Given the description of an element on the screen output the (x, y) to click on. 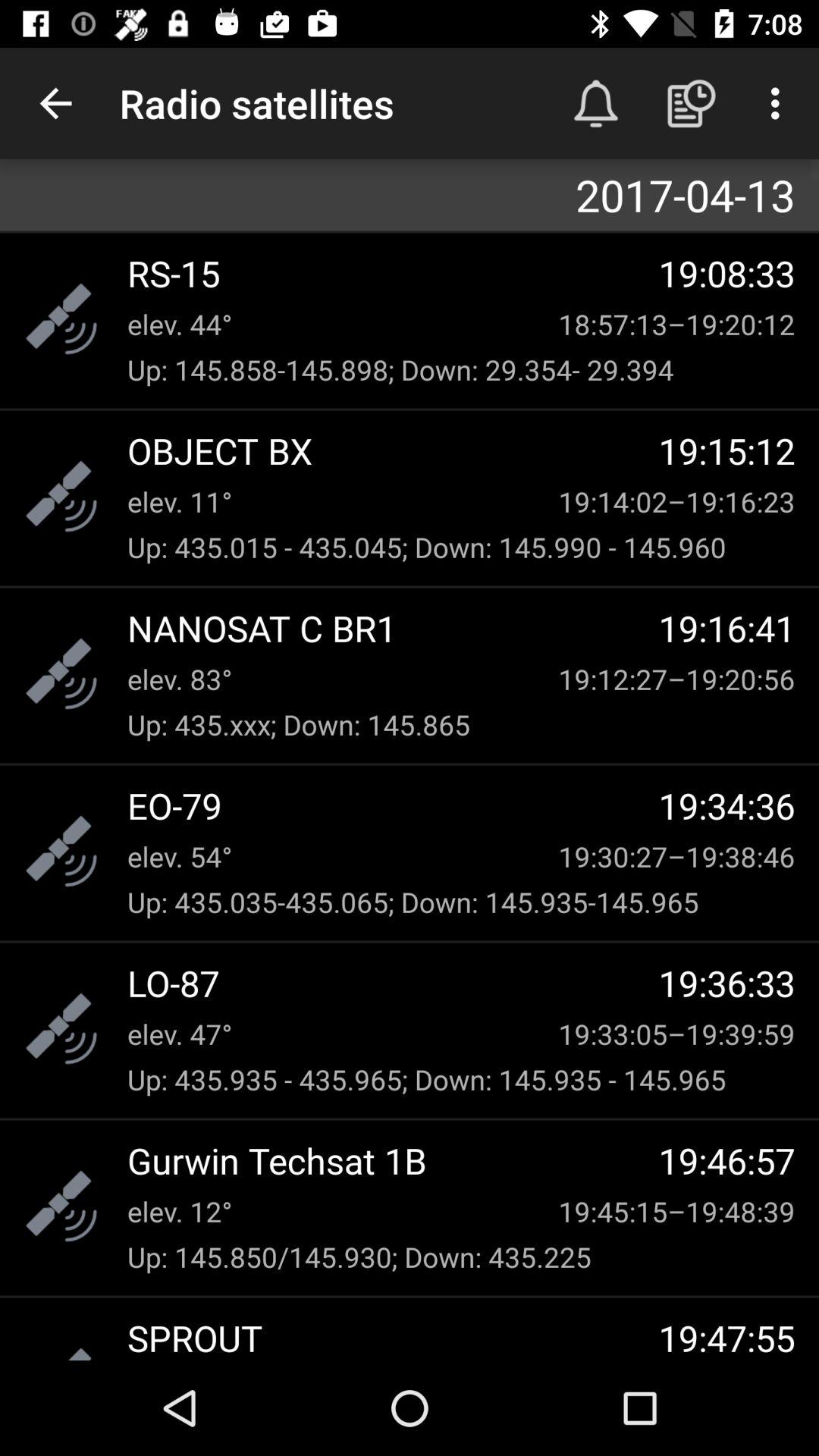
select item below 2017-04-13 item (392, 273)
